Given the description of an element on the screen output the (x, y) to click on. 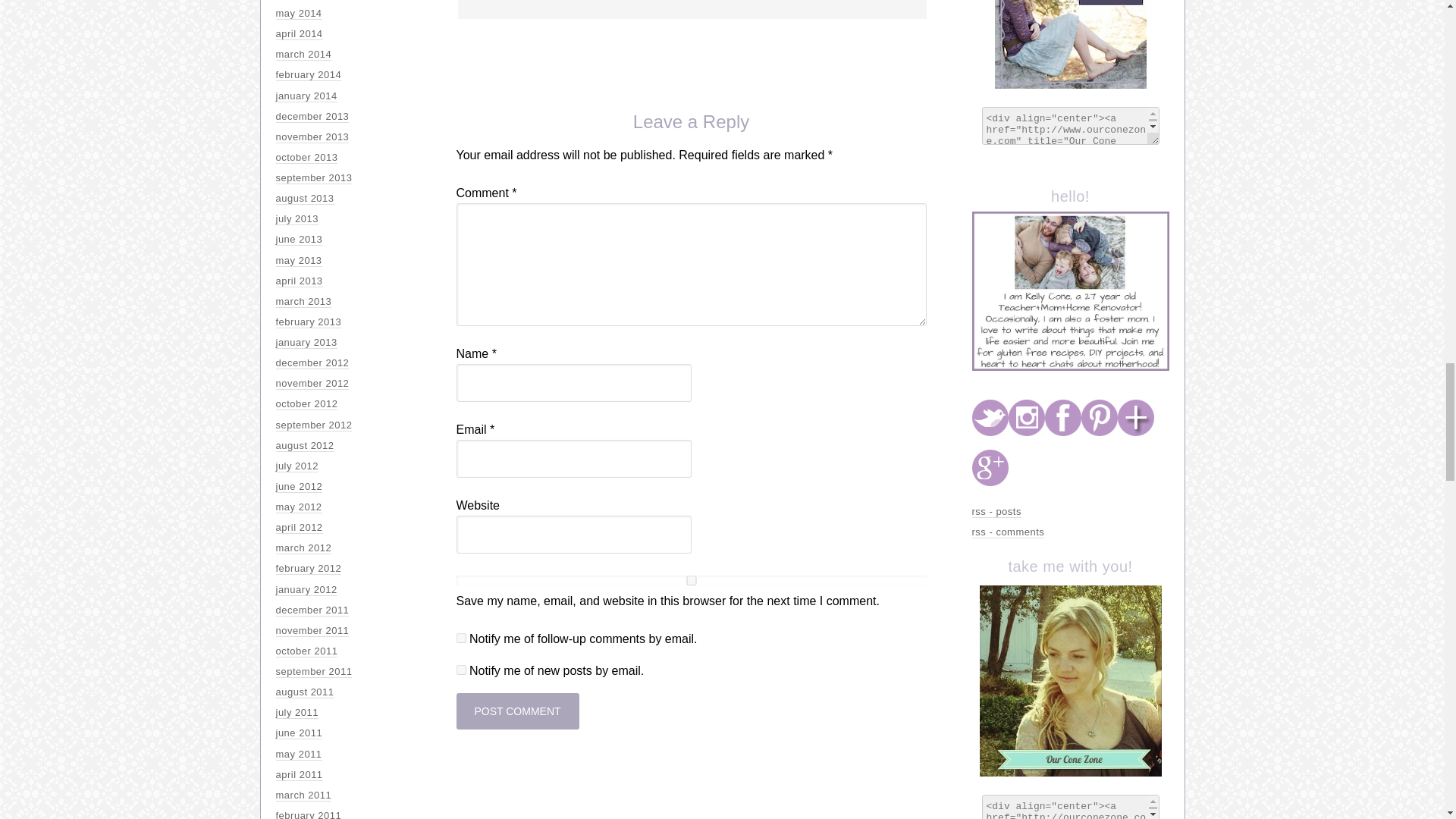
Our Cone Zone (1070, 44)
Subscribe to comments (1008, 532)
Post Comment (518, 710)
subscribe (461, 669)
yes (691, 580)
Post Comment (518, 710)
subscribe (461, 637)
Subscribe to posts (997, 511)
